Given the description of an element on the screen output the (x, y) to click on. 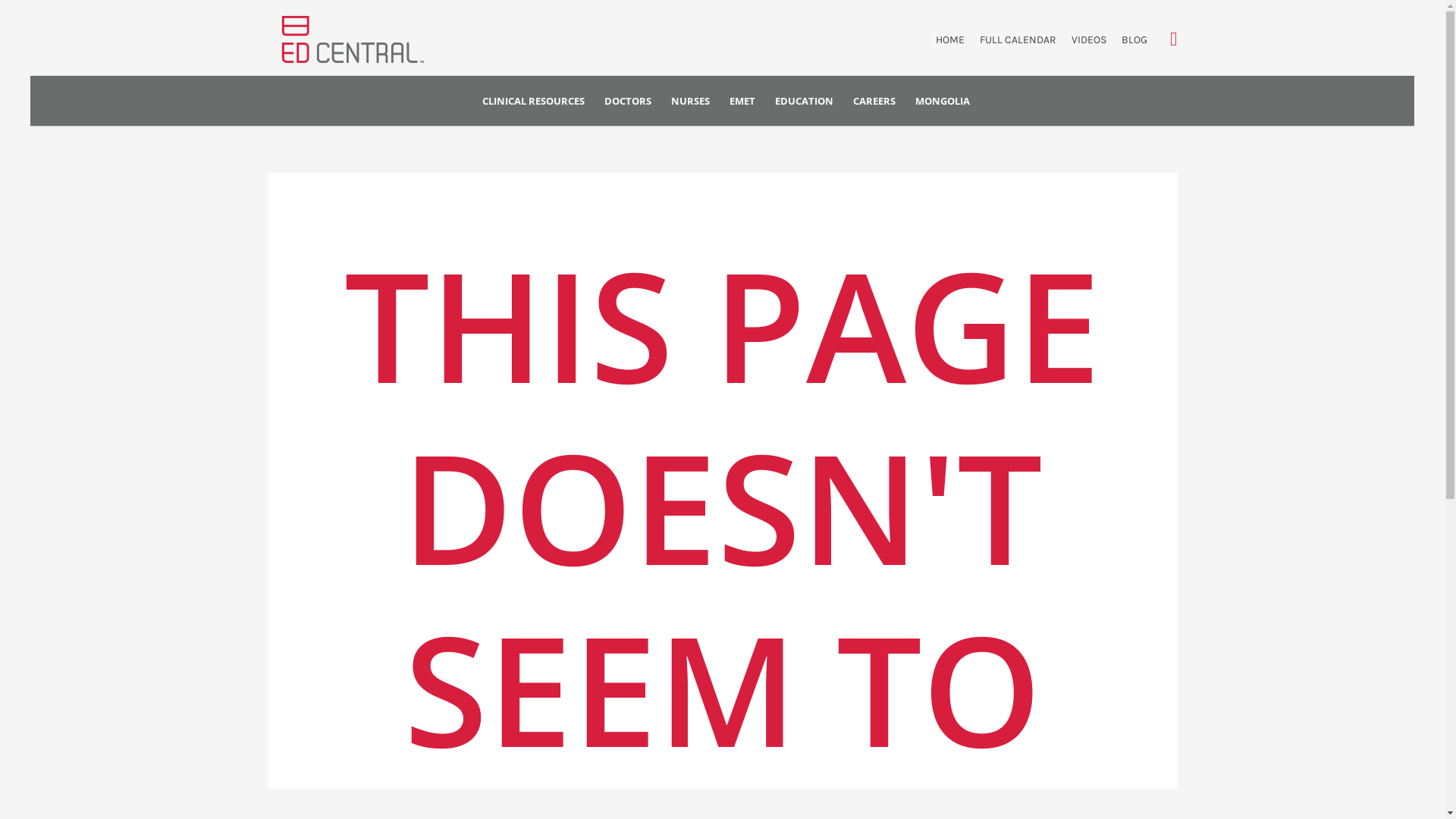
NURSES Element type: text (690, 100)
CAREERS Element type: text (874, 100)
MONGOLIA Element type: text (942, 100)
EDUCATION Element type: text (804, 100)
EMET Element type: text (742, 100)
DOCTORS Element type: text (627, 100)
Search Element type: text (1173, 39)
CLINICAL RESOURCES Element type: text (533, 100)
Skip to content Element type: text (29, 3)
